Given the description of an element on the screen output the (x, y) to click on. 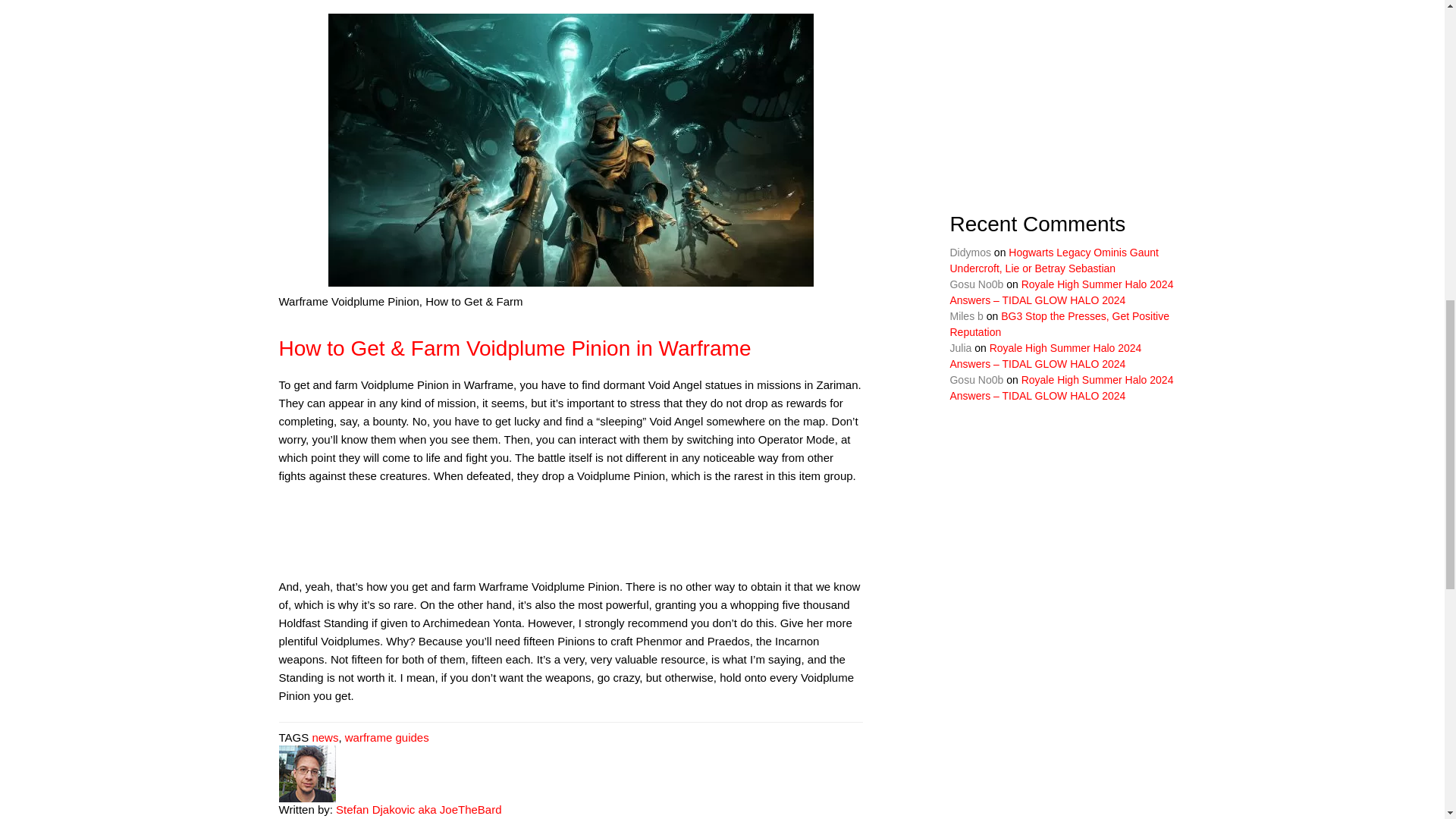
news (324, 737)
BG3 Stop the Presses, Get Positive Reputation (1059, 324)
warframe guides (387, 737)
Stefan Djakovic aka JoeTheBard (418, 809)
